Given the description of an element on the screen output the (x, y) to click on. 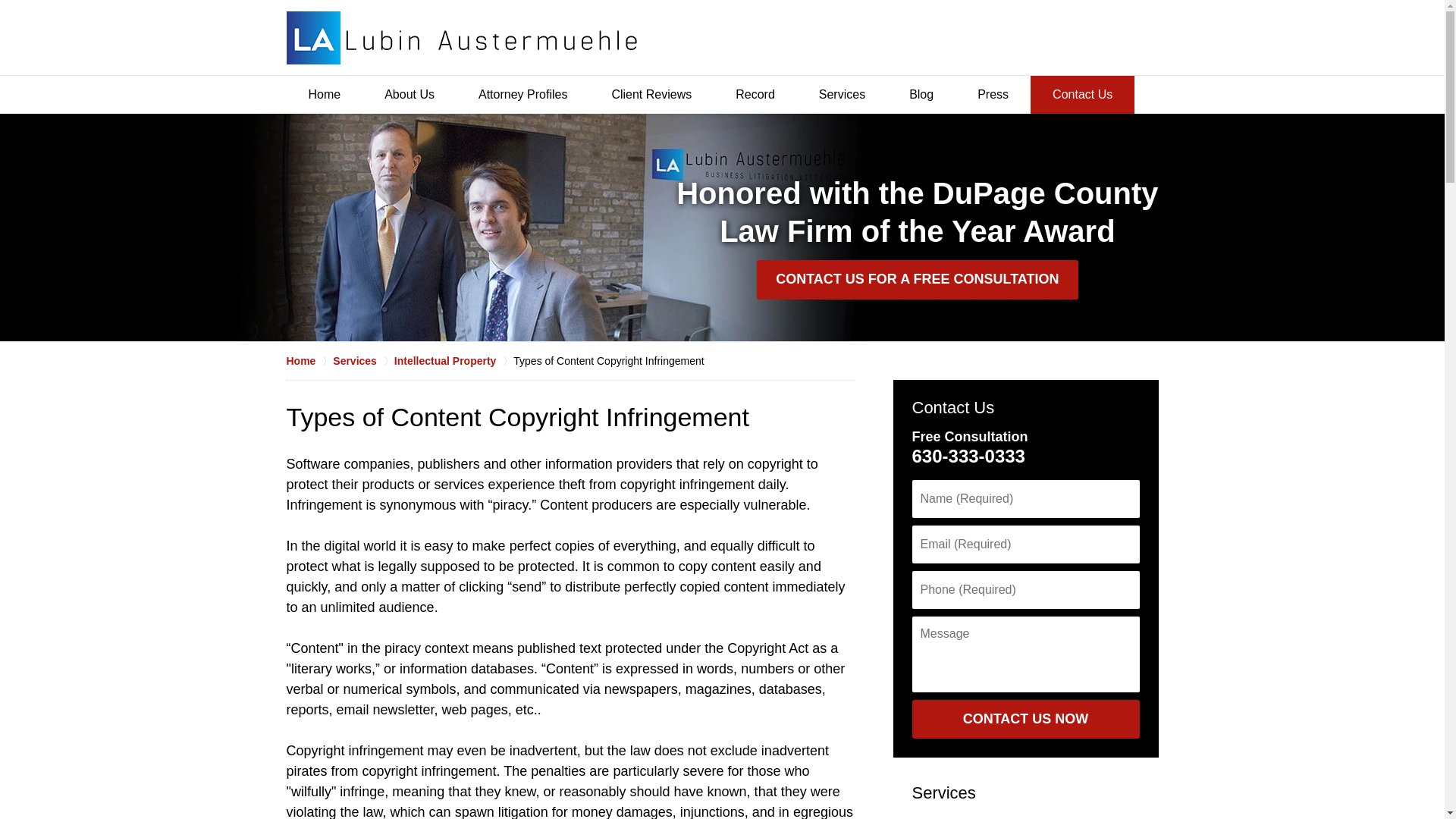
Home (324, 94)
Services (943, 792)
Contact Lubin Austermuehle, P.C. (1089, 37)
Lubin Austermuehle, P.C. Home (461, 37)
Attorney Profiles (523, 94)
Contact Us (1082, 94)
Record (754, 94)
Back to Home (461, 37)
About Us (409, 94)
Home (309, 360)
